Given the description of an element on the screen output the (x, y) to click on. 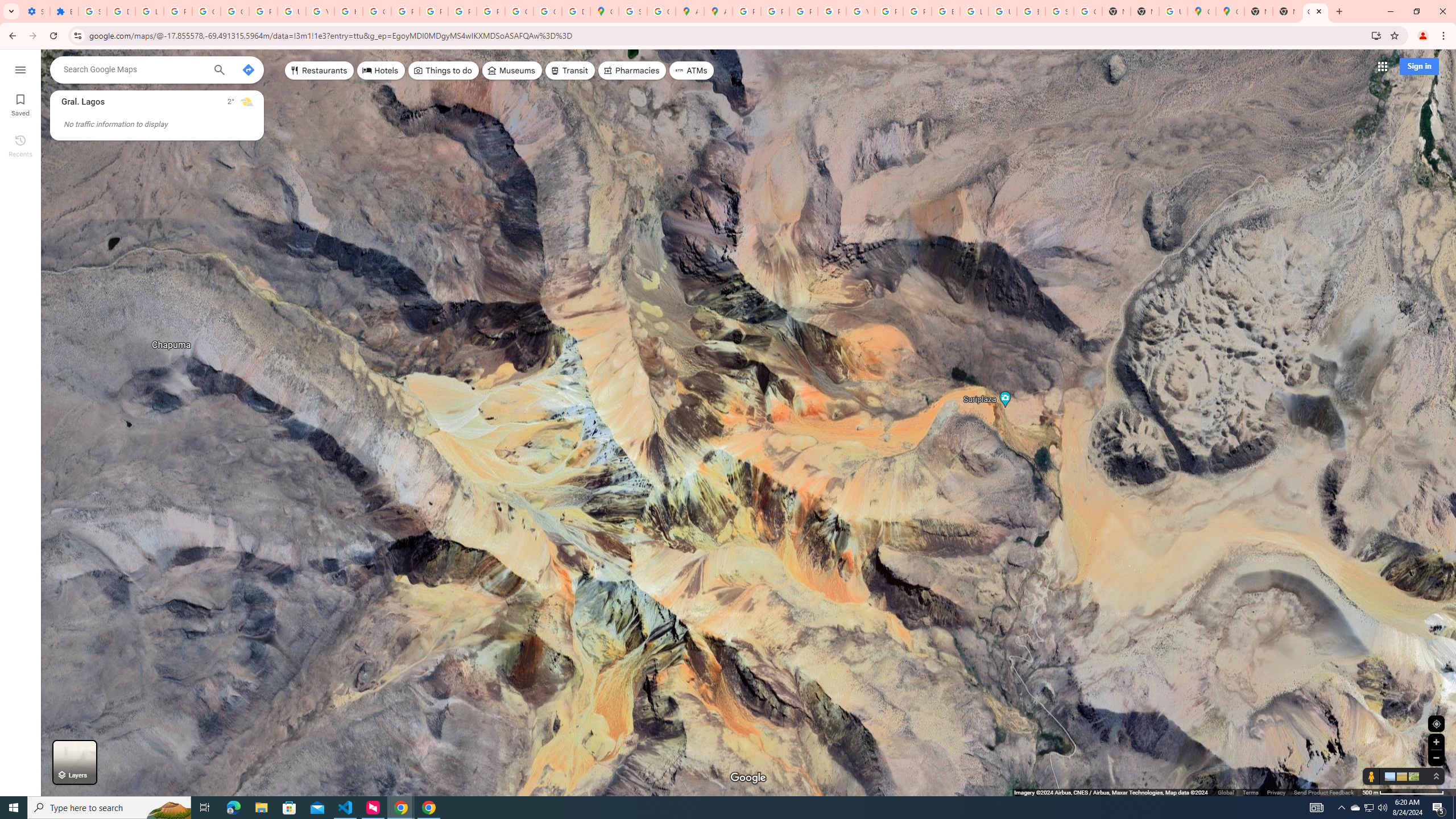
Privacy (1275, 792)
Show Street View coverage (1371, 776)
Google Maps (1315, 11)
ATMs (691, 70)
Send Product Feedback (1324, 792)
Show Your Location (1436, 723)
Google Account Help (206, 11)
New Tab (1144, 11)
Privacy Help Center - Policies Help (405, 11)
Transit (569, 70)
Settings - On startup (35, 11)
Google Maps (1201, 11)
